Given the description of an element on the screen output the (x, y) to click on. 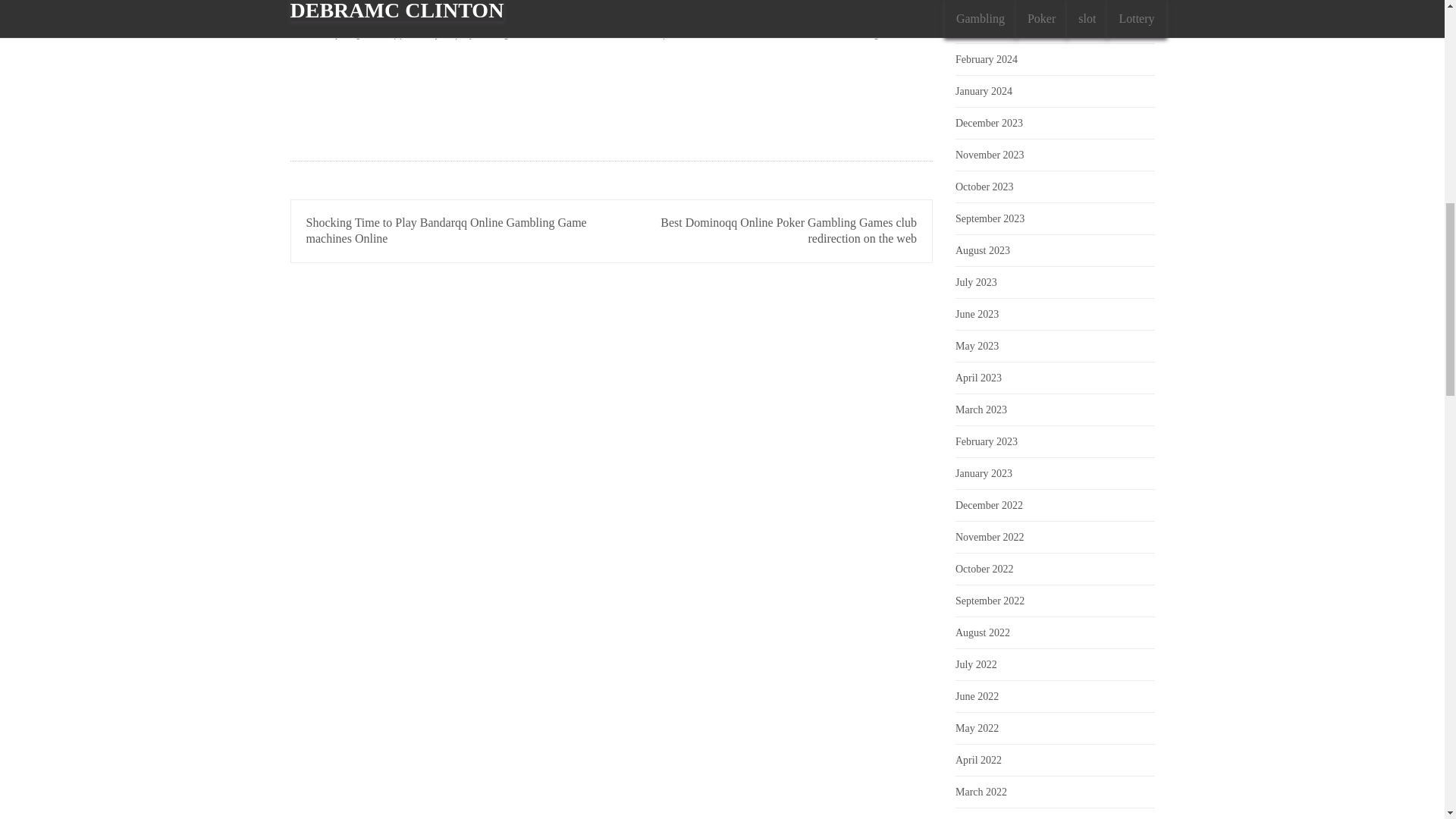
February 2023 (986, 441)
April 2023 (978, 378)
July 2023 (976, 282)
March 2023 (981, 409)
November 2023 (990, 154)
October 2023 (984, 186)
January 2023 (983, 473)
August 2023 (982, 250)
March 2024 (981, 27)
